Given the description of an element on the screen output the (x, y) to click on. 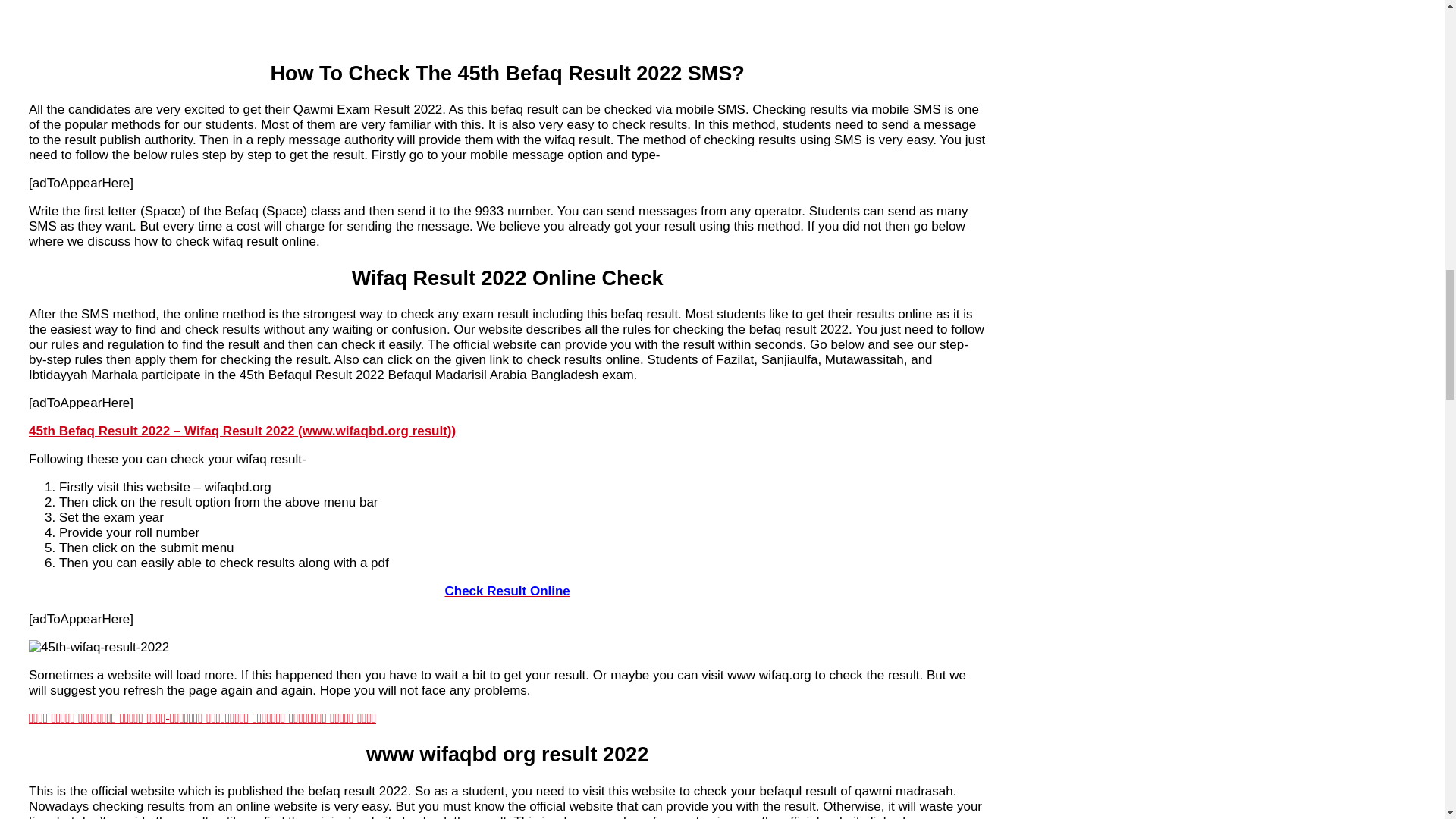
Check Result Online (506, 590)
